Given the description of an element on the screen output the (x, y) to click on. 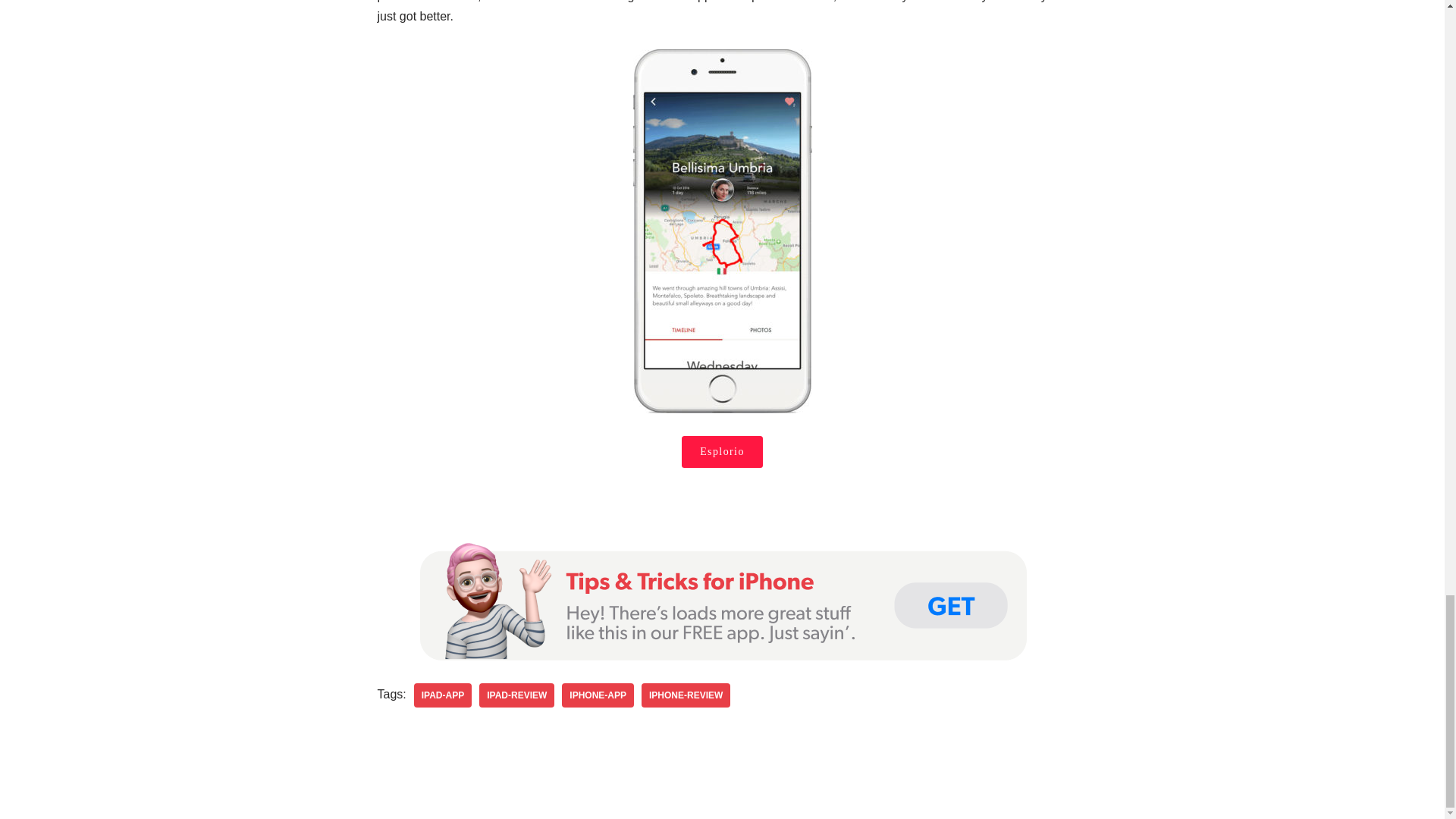
iphone-review (686, 695)
IPAD-APP (442, 695)
IPHONE-REVIEW (686, 695)
ipad-review (516, 695)
Esplorio (721, 451)
ipad-app (442, 695)
IPHONE-APP (597, 695)
IPAD-REVIEW (516, 695)
iphone-app (597, 695)
